Given the description of an element on the screen output the (x, y) to click on. 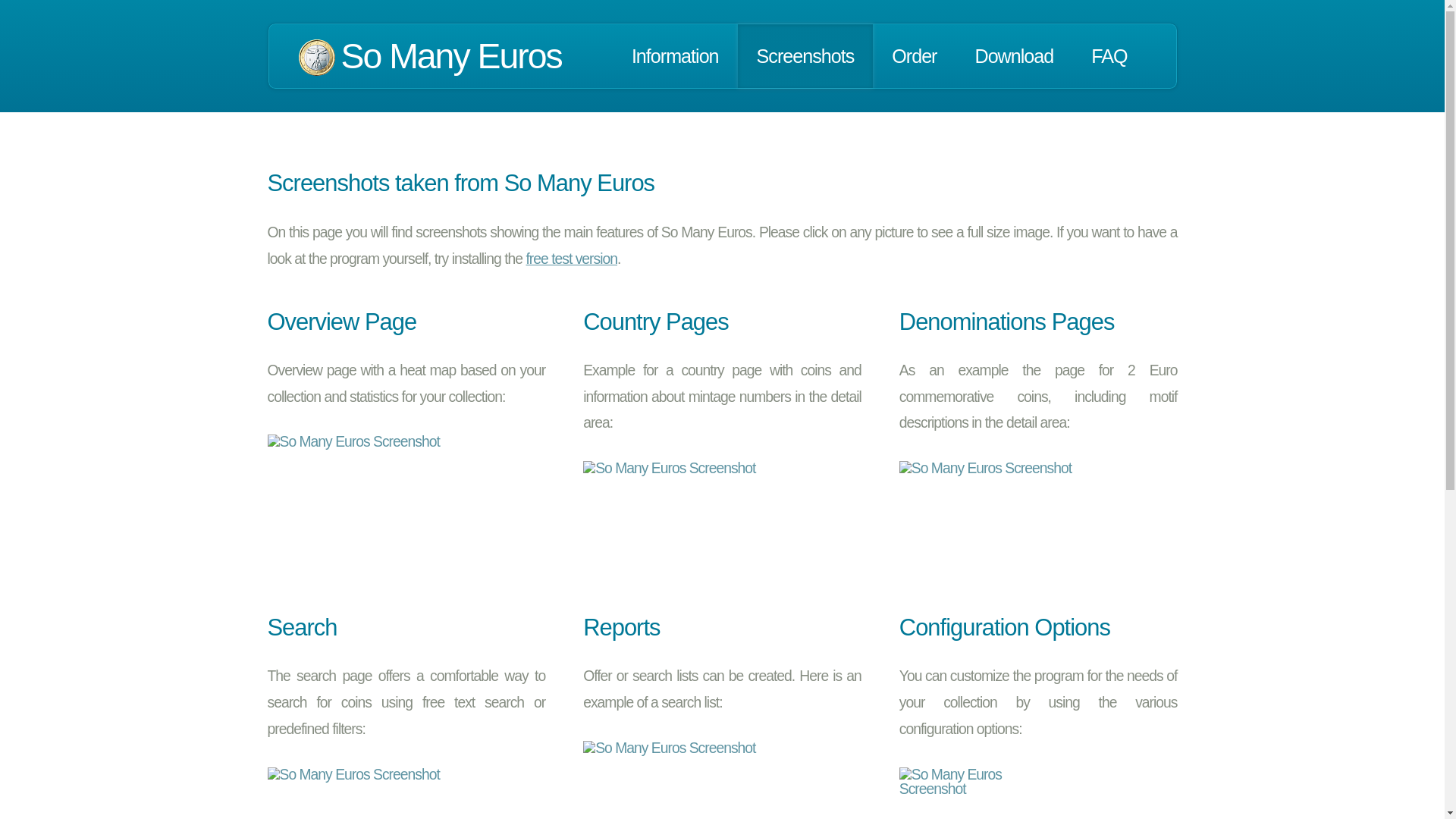
Order the latest program version (913, 55)
Information (675, 55)
Order (913, 55)
free test version (571, 258)
Screenshots from So Many Euros (805, 55)
Download So Many Euros (571, 258)
Information about So Many Euros (675, 55)
FAQ (1108, 55)
Screenshots (805, 55)
Download the latest program version (1013, 55)
